Given the description of an element on the screen output the (x, y) to click on. 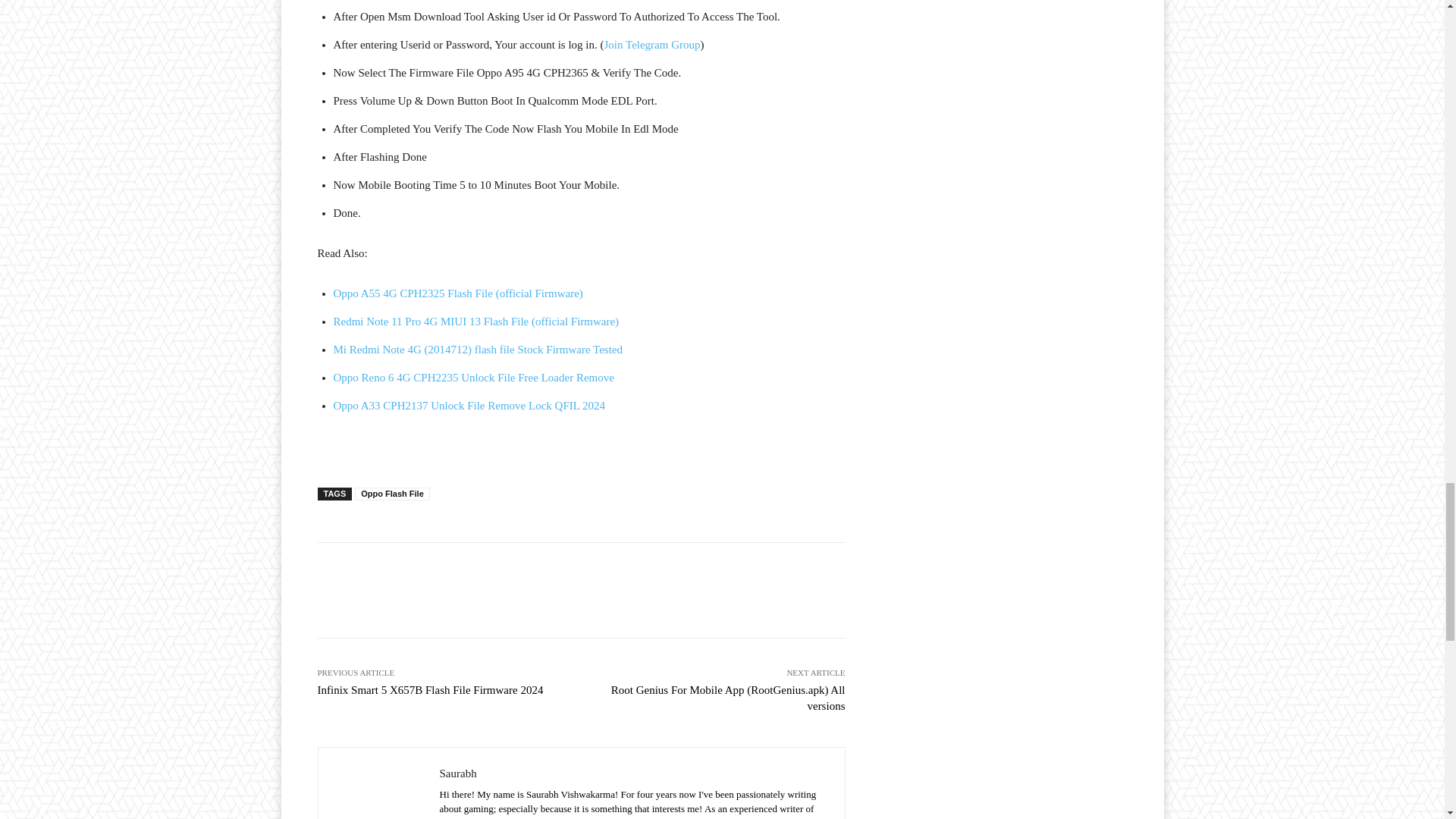
Join Telegram Group (652, 44)
